Given the description of an element on the screen output the (x, y) to click on. 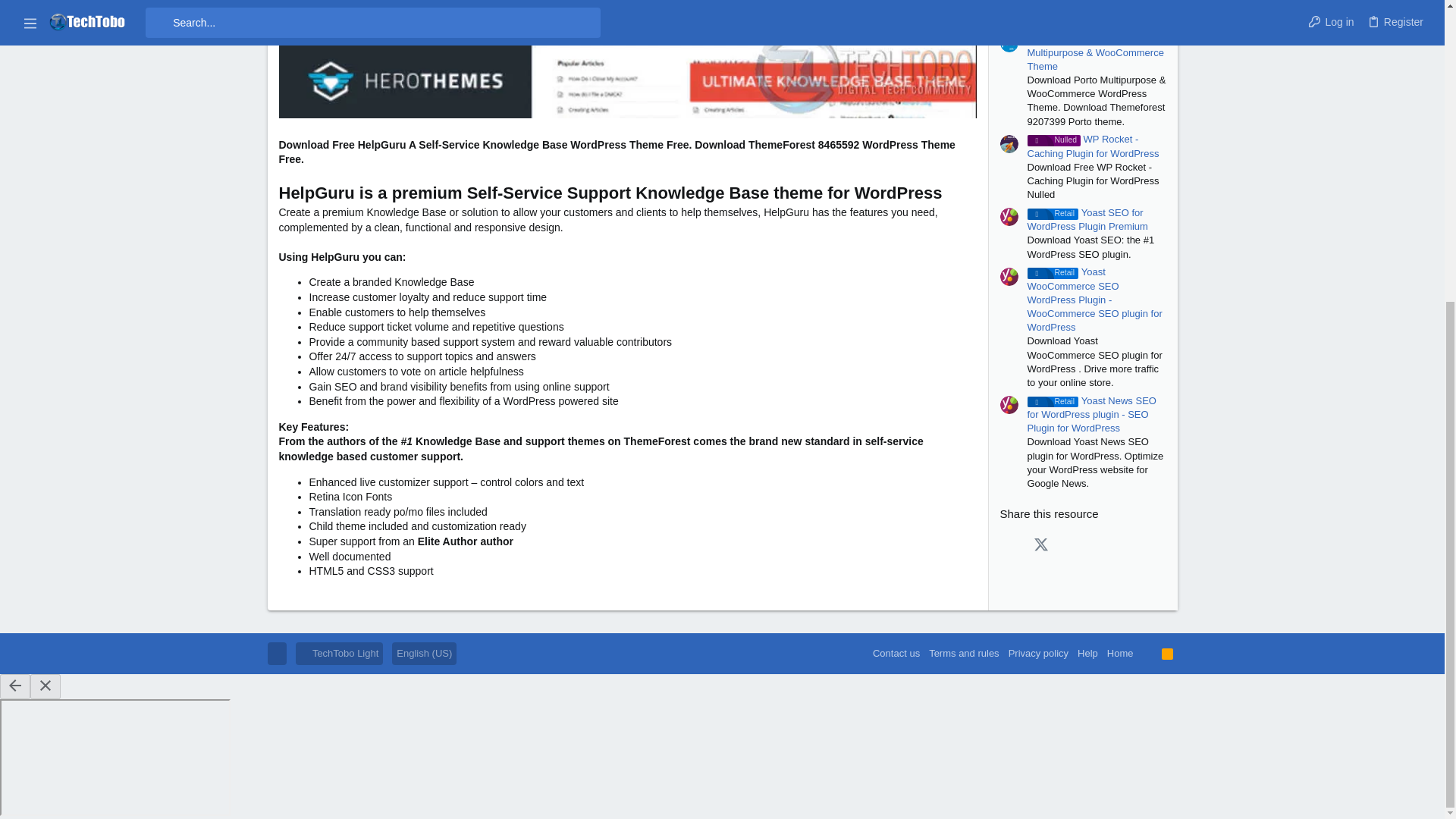
HelpGuru A Self-Service Knowledge Base WordPress Theme (627, 58)
HelpGuru A Self-Service Knowledge Base WordPress Theme (627, 61)
RSS (1167, 653)
